Given the description of an element on the screen output the (x, y) to click on. 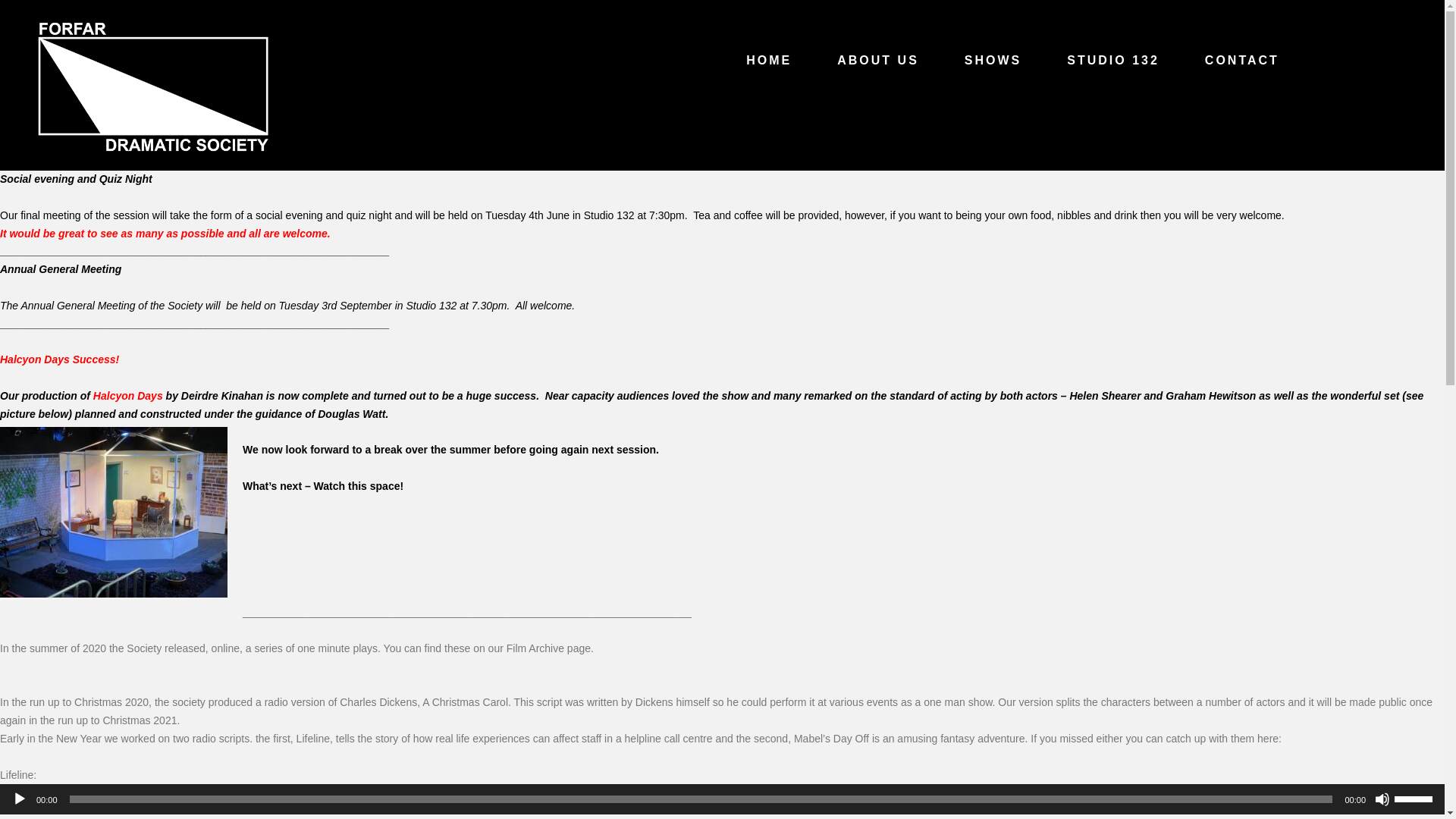
ABOUT US (877, 59)
HOME (768, 59)
Play (19, 798)
CONTACT (1241, 59)
SHOWS (992, 59)
Mute (1382, 798)
STUDIO 132 (1112, 59)
